Given the description of an element on the screen output the (x, y) to click on. 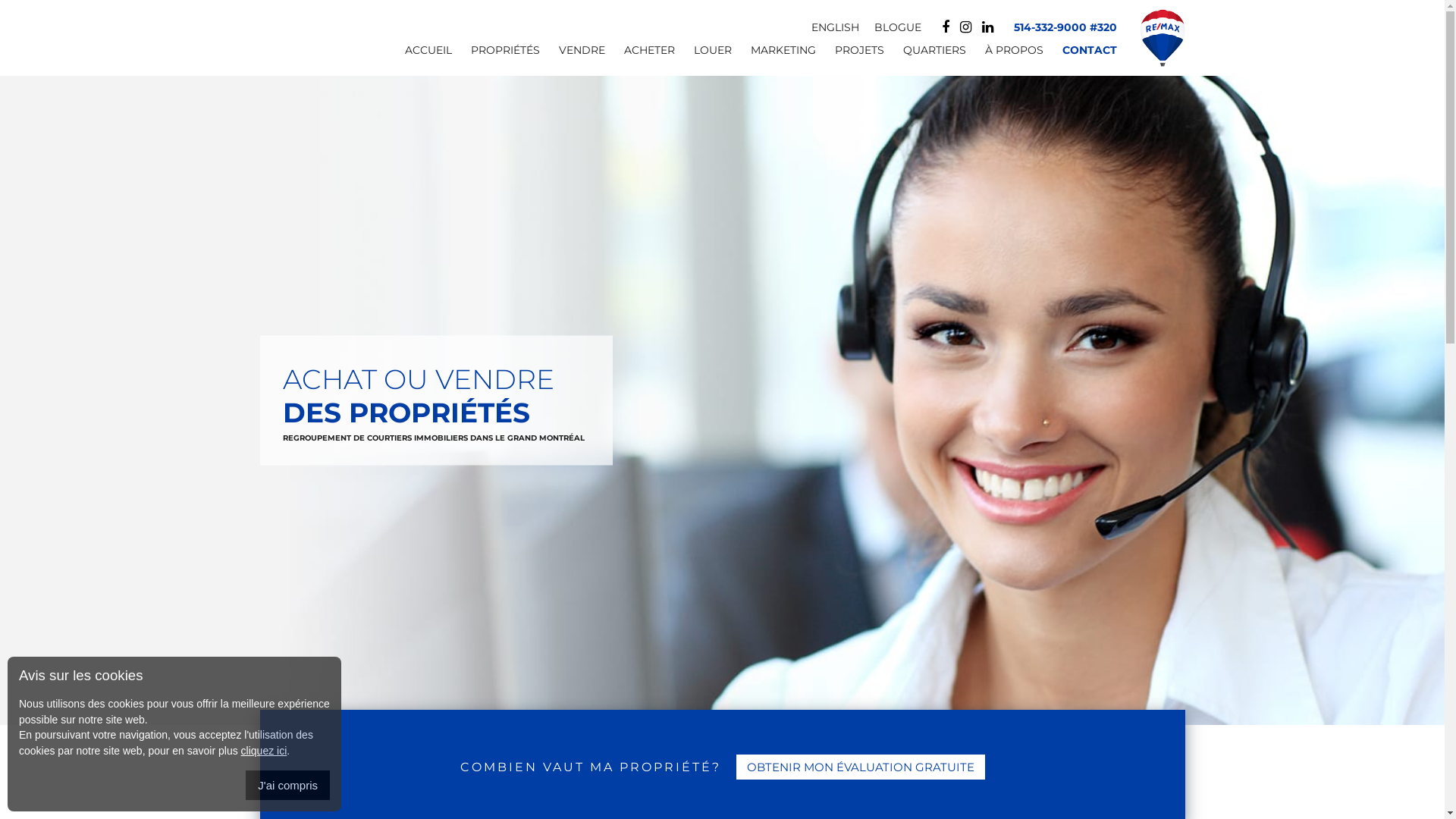
LOUER Element type: text (702, 55)
J'ai compris Element type: text (287, 785)
MARKETING Element type: text (773, 55)
ENGLISH Element type: text (842, 27)
PROJETS Element type: text (849, 55)
ACHETER Element type: text (639, 55)
BLOGUE Element type: text (904, 27)
514-332-9000 #320 Element type: text (1064, 27)
QUARTIERS Element type: text (925, 55)
CONTACT Element type: text (1080, 55)
ACCUEIL Element type: text (418, 55)
cliquez ici Element type: text (264, 750)
VENDRE Element type: text (572, 55)
